Given the description of an element on the screen output the (x, y) to click on. 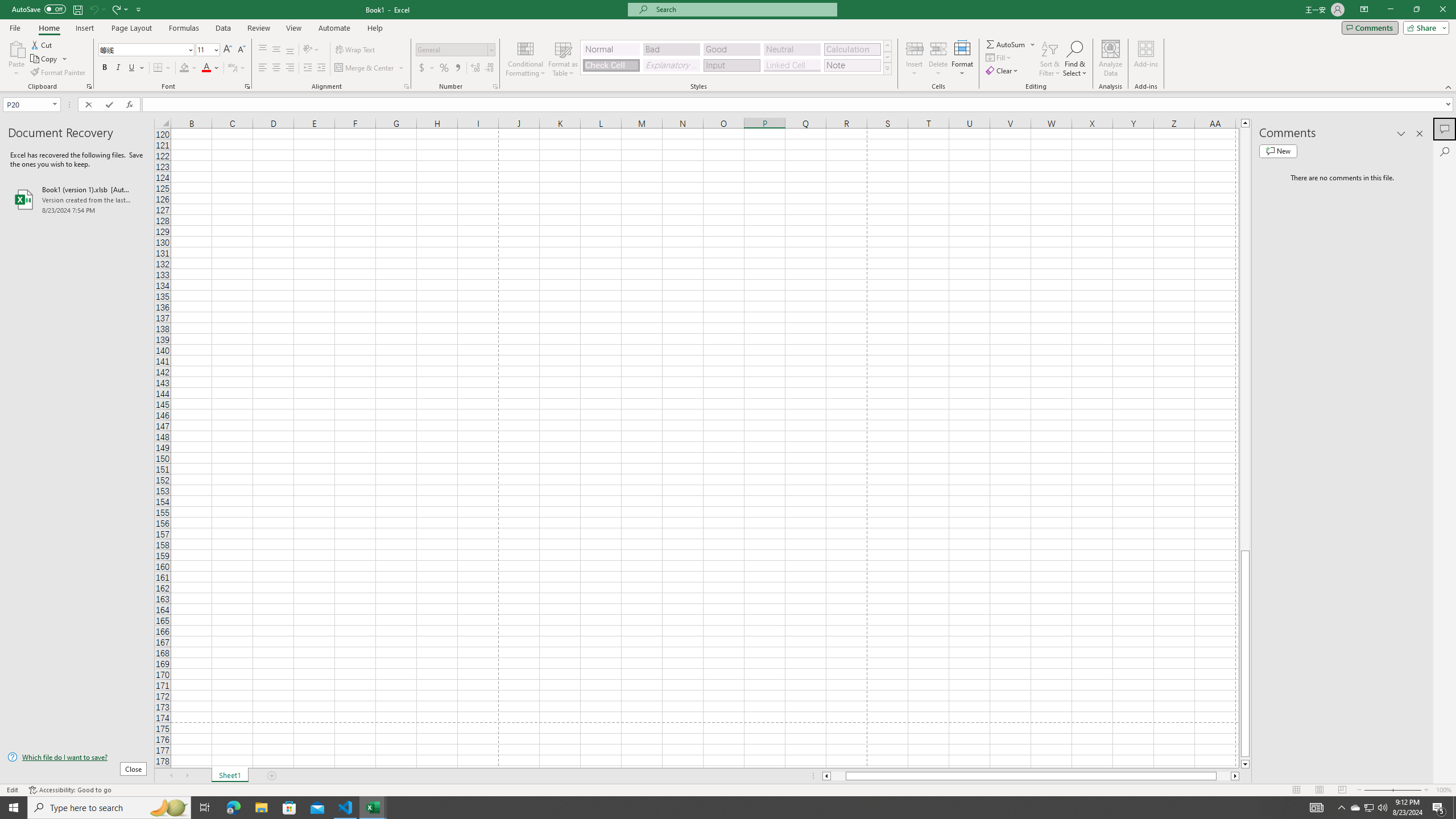
Fill Color RGB(255, 255, 0) (183, 67)
Input (731, 65)
New comment (1278, 151)
Accounting Number Format (422, 67)
Page left (838, 775)
Sum (1006, 44)
Show Phonetic Field (236, 67)
